Given the description of an element on the screen output the (x, y) to click on. 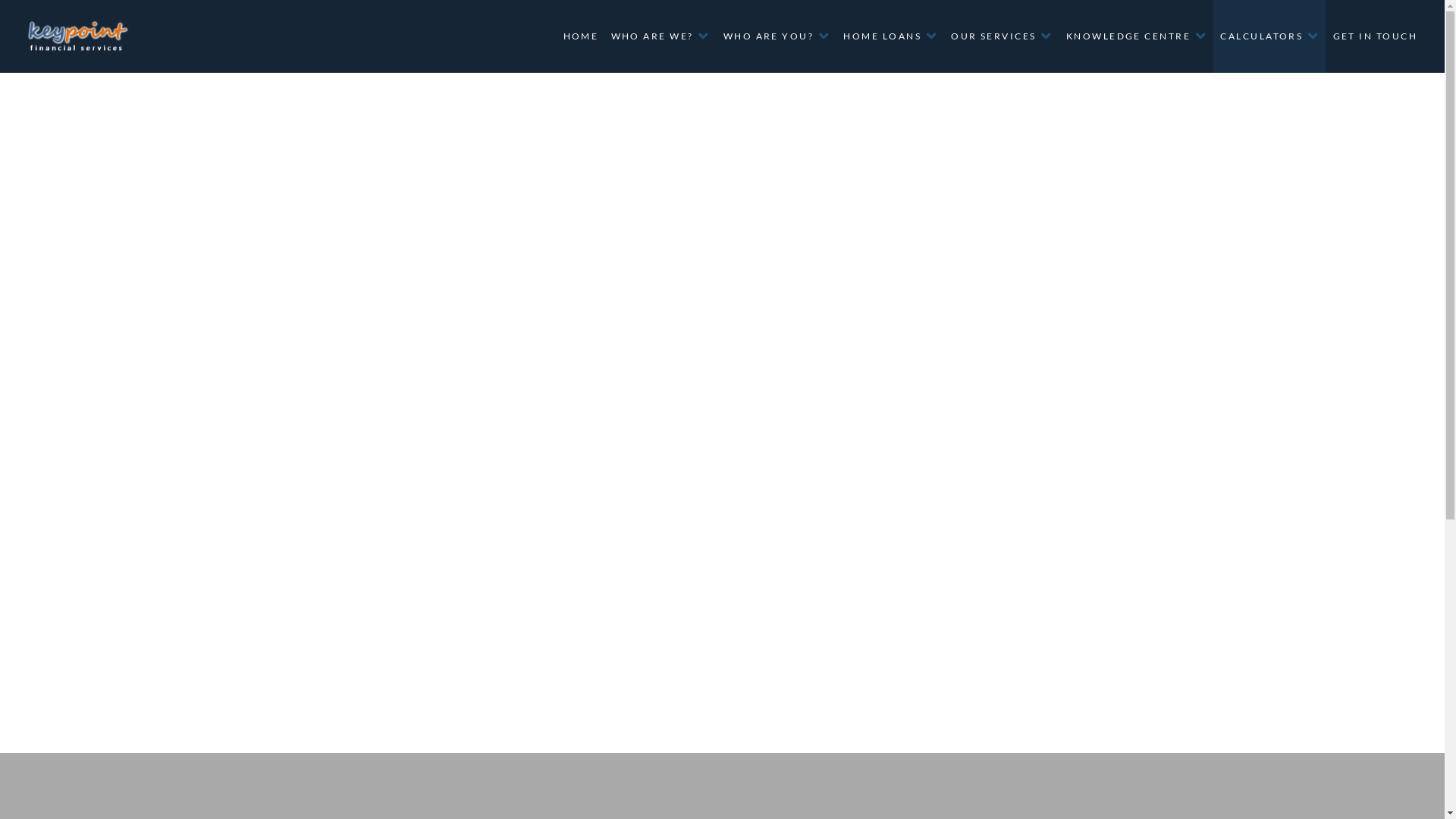
HOME Element type: text (579, 36)
CALCULATORS Element type: text (1269, 36)
GET IN TOUCH Element type: text (1373, 36)
OUR SERVICES Element type: text (1001, 36)
WHO ARE YOU? Element type: text (775, 36)
HOME LOANS Element type: text (890, 36)
KNOWLEDGE CENTRE Element type: text (1135, 36)
WHO ARE WE? Element type: text (659, 36)
